Given the description of an element on the screen output the (x, y) to click on. 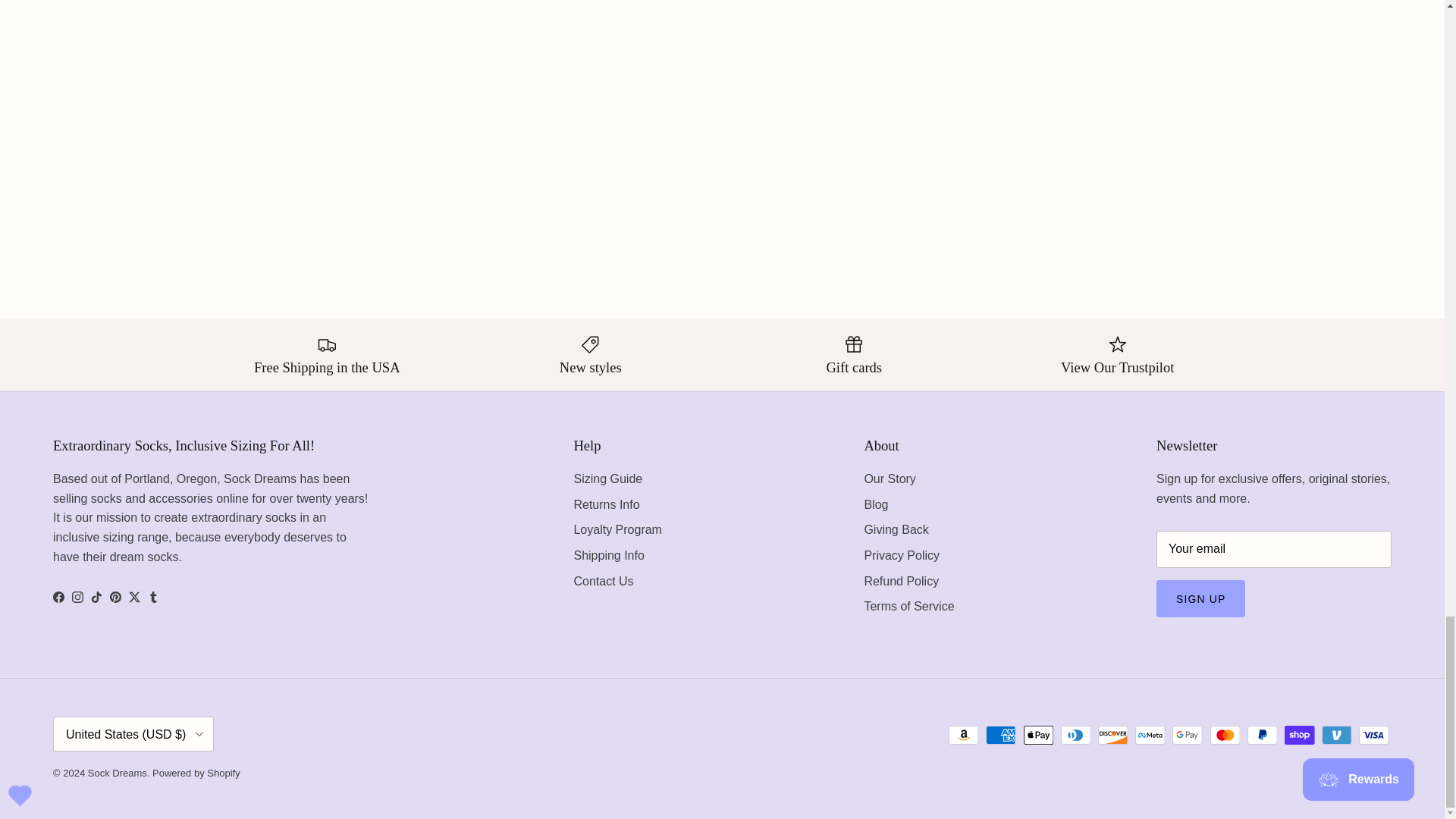
Sock Dreams on Facebook (58, 596)
Sock Dreams on Twitter (134, 596)
Sock Dreams on TikTok (95, 596)
Sock Dreams on Pinterest (115, 596)
Sock Dreams on Instagram (76, 596)
